Given the description of an element on the screen output the (x, y) to click on. 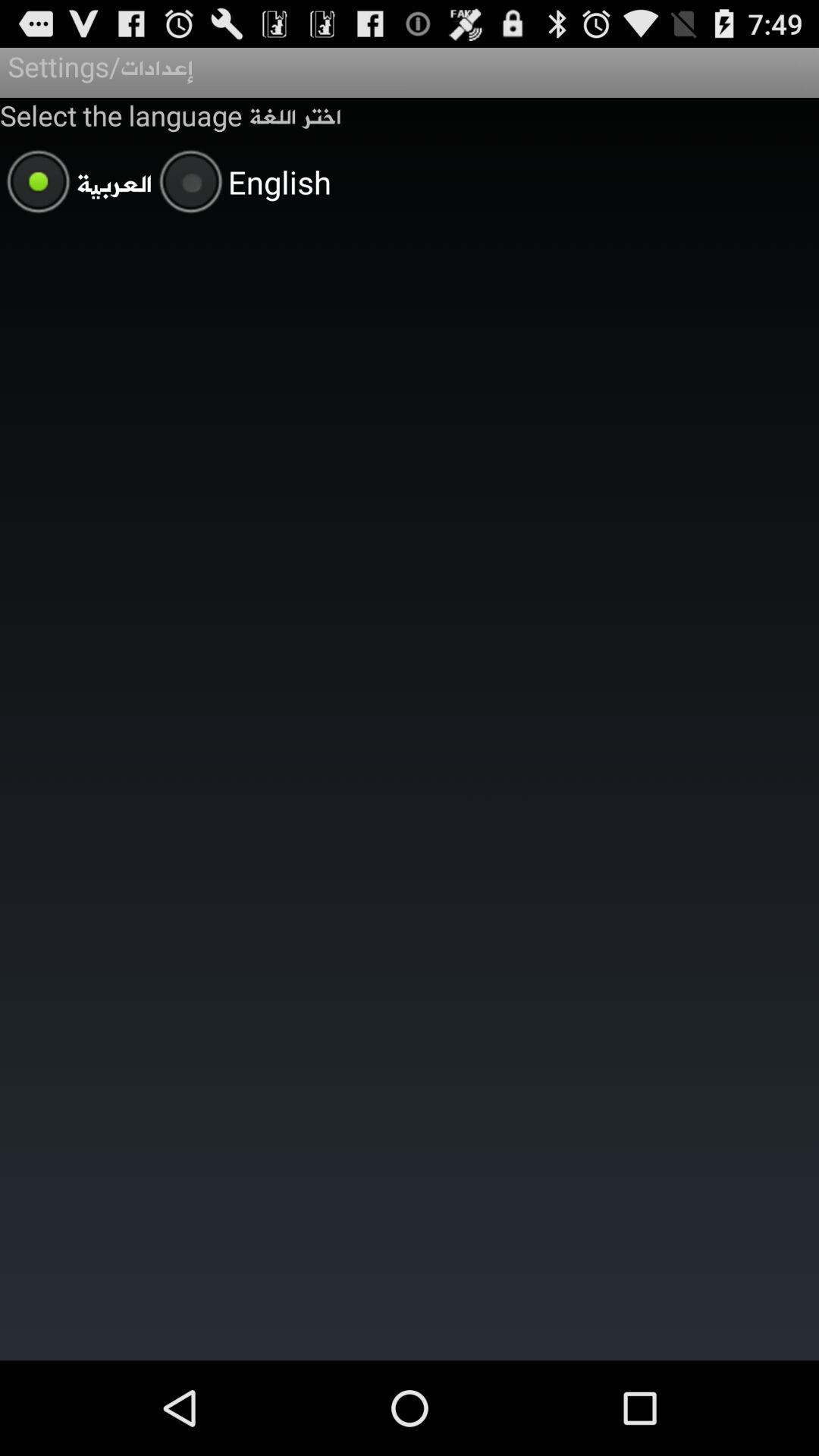
turn off the item below the select the language app (241, 184)
